Given the description of an element on the screen output the (x, y) to click on. 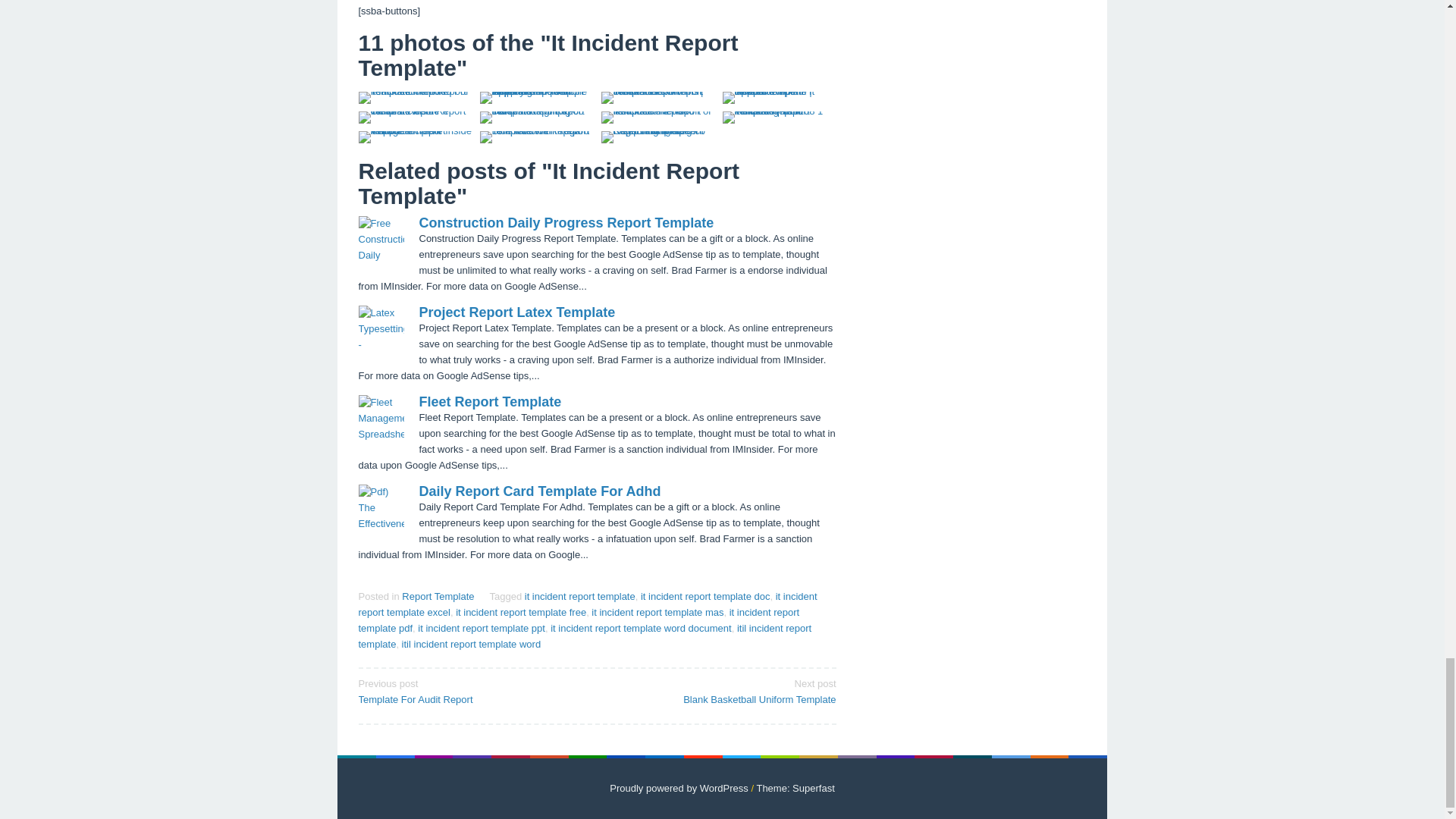
it incident report template excel (587, 604)
Construction Daily Progress Report Template (566, 222)
Project Report Latex Template (516, 312)
Fleet Report Template (489, 401)
it incident report template pdf (578, 619)
Daily Report Card Template For Adhd (540, 491)
Report Template (437, 595)
it incident report template free (520, 612)
it incident report template ppt (480, 627)
it incident report template mas (657, 612)
